Given the description of an element on the screen output the (x, y) to click on. 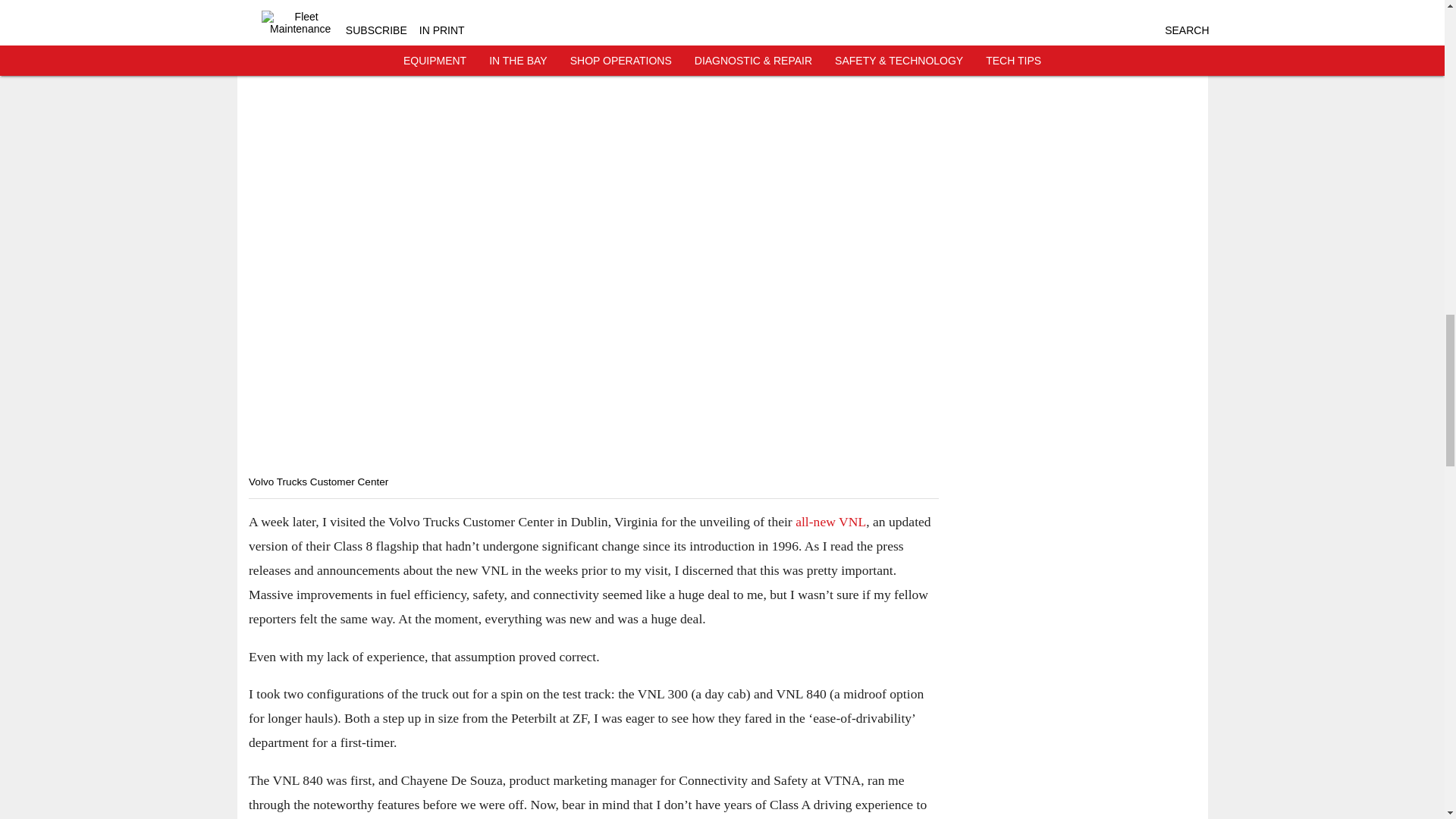
all-new VNL (830, 521)
